Given the description of an element on the screen output the (x, y) to click on. 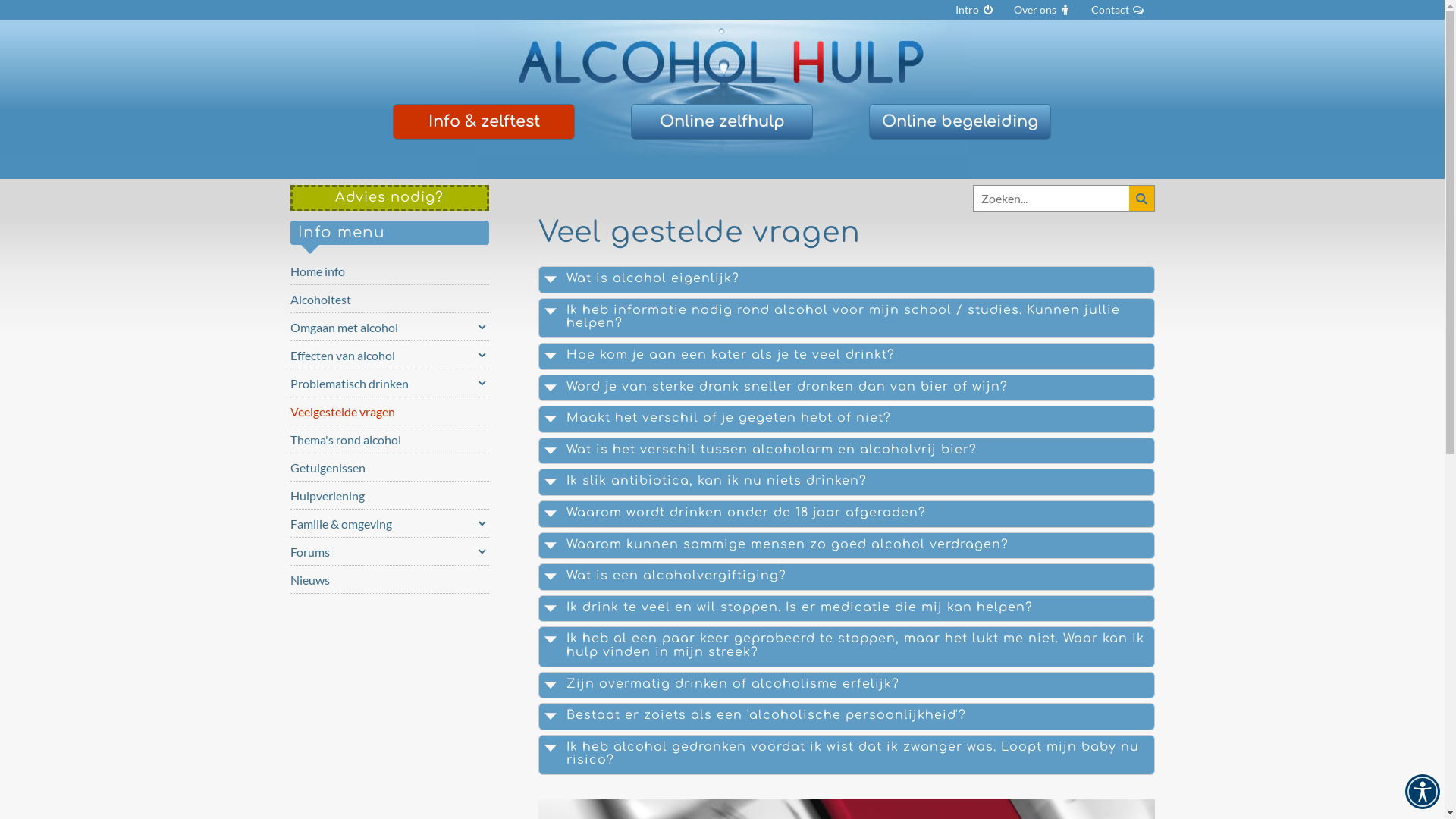
Wat is een alcoholvergiftiging? Element type: text (846, 576)
Effecten van alcohol Element type: text (389, 354)
Getuigenissen Element type: text (389, 466)
Maakt het verschil of je gegeten hebt of niet? Element type: text (846, 419)
Problematisch drinken Element type: text (389, 382)
Intro Element type: text (974, 9)
Contact Element type: text (1117, 9)
Wat is alcohol eigenlijk? Element type: text (846, 279)
Forums Element type: text (389, 550)
Home info Element type: text (389, 270)
Advies nodig? Element type: text (389, 197)
Hulpverlening Element type: text (389, 494)
Hoe kom je aan een kater als je te veel drinkt? Element type: text (846, 356)
Omgaan met alcohol Element type: text (389, 326)
Alcoholtest Element type: text (389, 298)
Online zelfhulp Element type: text (721, 121)
Ik slik antibiotica, kan ik nu niets drinken? Element type: text (846, 481)
Wat is het verschil tussen alcoholarm en alcoholvrij bier? Element type: text (846, 450)
Waarom kunnen sommige mensen zo goed alcohol verdragen? Element type: text (846, 545)
Veelgestelde vragen Element type: text (389, 410)
Zijn overmatig drinken of alcoholisme erfelijk? Element type: text (846, 685)
Online begeleiding Element type: text (960, 121)
Waarom wordt drinken onder de 18 jaar afgeraden? Element type: text (846, 513)
Nieuws Element type: text (389, 579)
Over ons Element type: text (1043, 9)
Thema's rond alcohol Element type: text (389, 438)
Familie & omgeving Element type: text (389, 522)
Info & zelftest Element type: text (483, 121)
Bestaat er zoiets als een 'alcoholische persoonlijkheid'? Element type: text (846, 716)
